Given the description of an element on the screen output the (x, y) to click on. 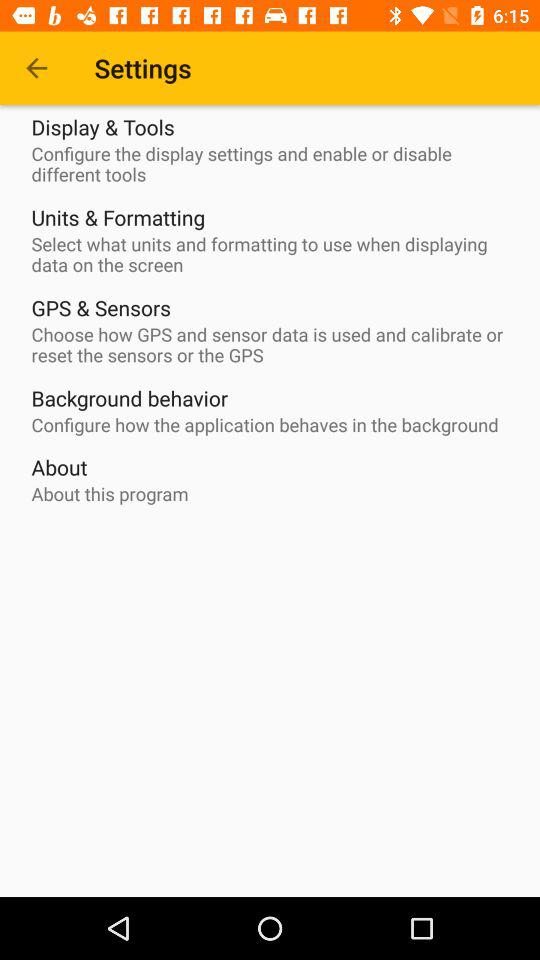
turn off the item next to the settings icon (36, 68)
